Given the description of an element on the screen output the (x, y) to click on. 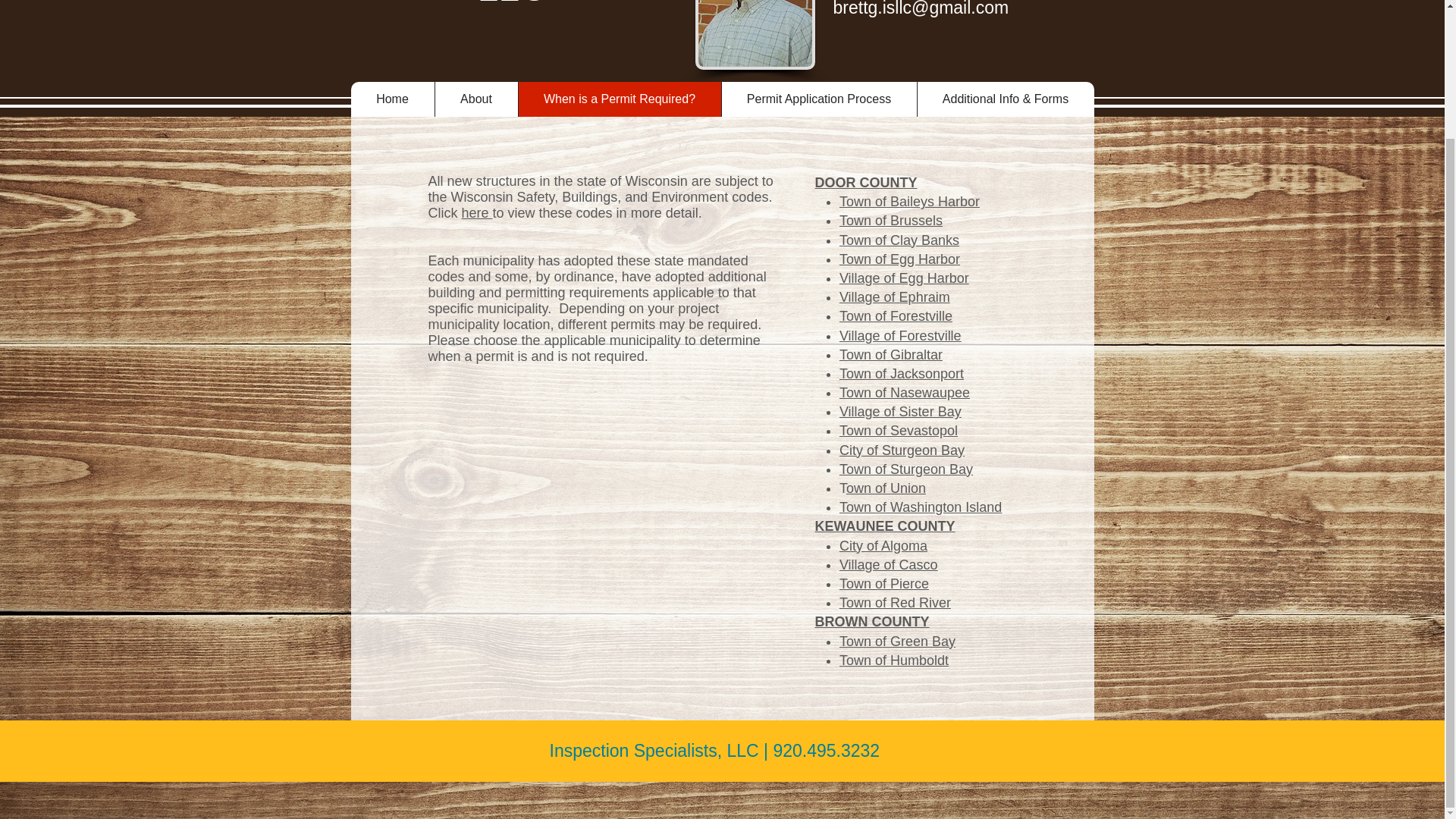
About (474, 99)
Home (391, 99)
Inspection         Specialists,                   LLC (530, 4)
Permit Application Process (817, 99)
When is a Permit Required? (618, 99)
